Given the description of an element on the screen output the (x, y) to click on. 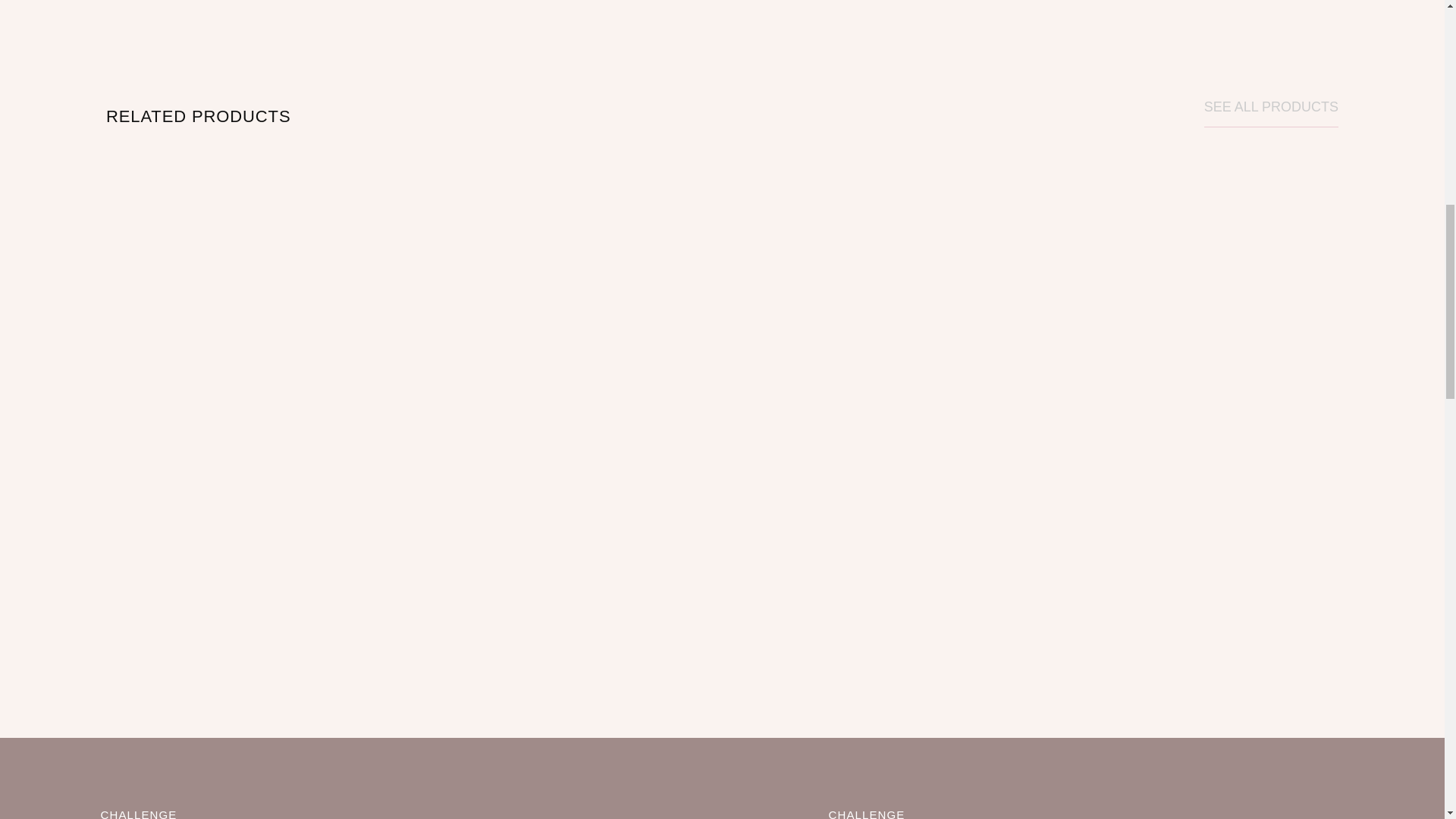
SEE ALL PRODUCTS (361, 778)
